Given the description of an element on the screen output the (x, y) to click on. 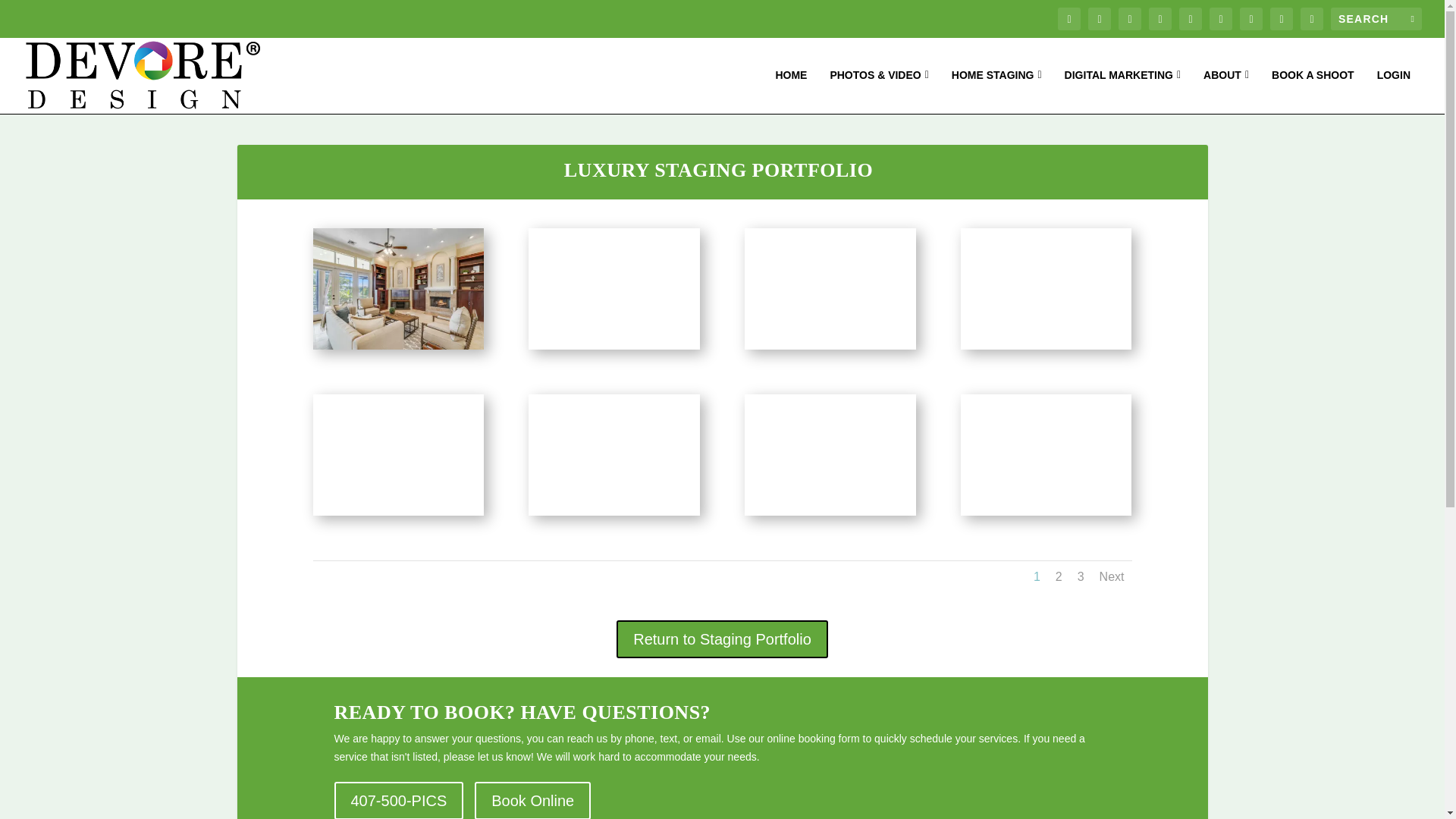
16152 Voltera Point, Montverde, FL 34756 (613, 405)
BOOK A SHOOT (1312, 90)
9044 Great Heron Circle, Orlando, FL 32836 (1045, 239)
16152 Voltera Point, Montverde, FL 34756 (398, 405)
DIGITAL MARKETING (1122, 90)
1353 Chatfield Place, Orlando, FL 32814 (613, 239)
16152 Voltera Point, Montverde, FL 34756 (1045, 405)
1017 Johns Point Drive, Oakland, FL 34787 (398, 345)
Search for: (1376, 18)
1353 Chatfield Place, Orlando, FL 32814 (829, 239)
